Given the description of an element on the screen output the (x, y) to click on. 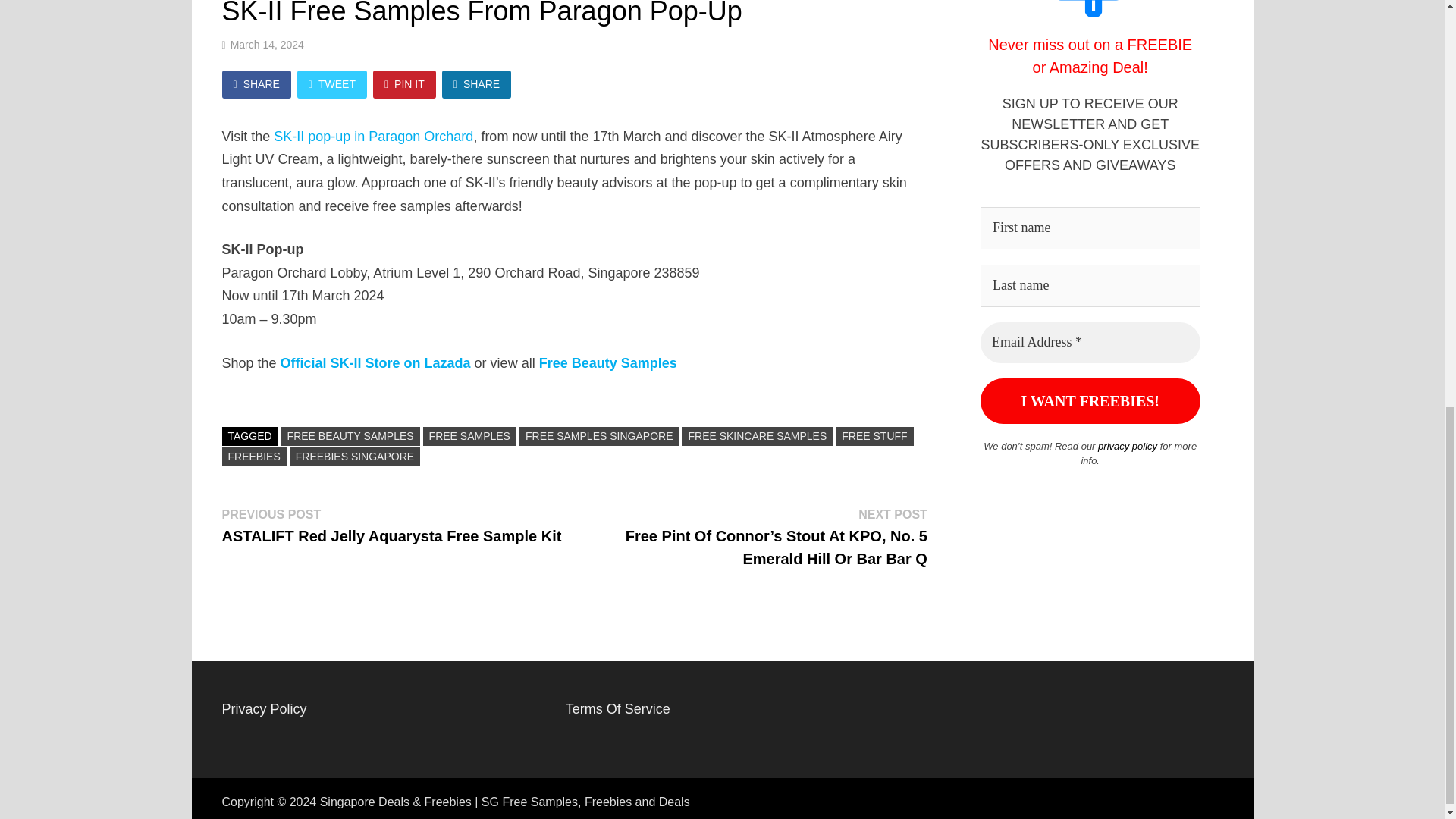
Email Address (1089, 342)
First name (1089, 228)
I Want Freebies! (1089, 401)
Last name (1089, 285)
